Given the description of an element on the screen output the (x, y) to click on. 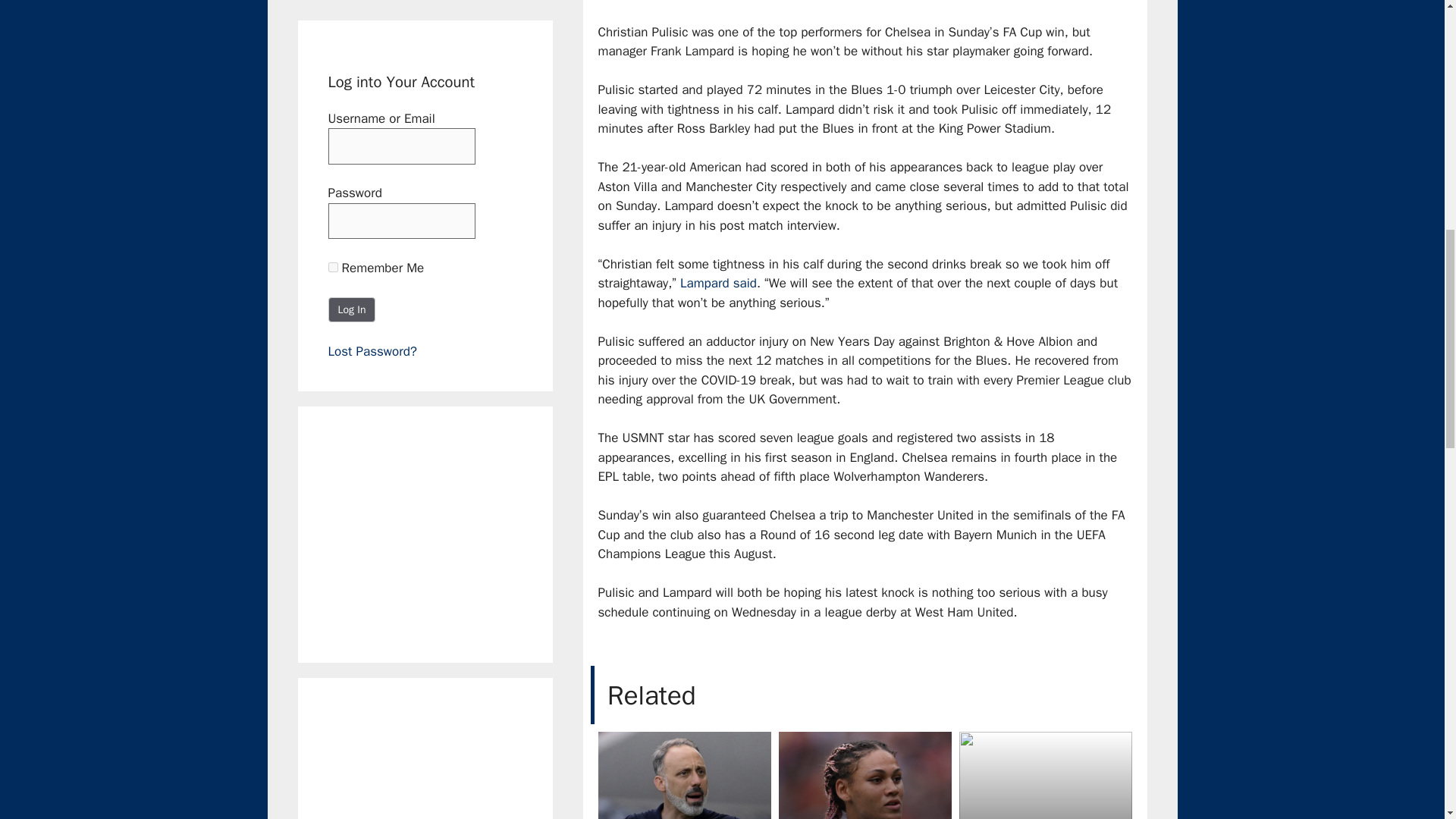
Log In (351, 309)
forever (332, 266)
